Given the description of an element on the screen output the (x, y) to click on. 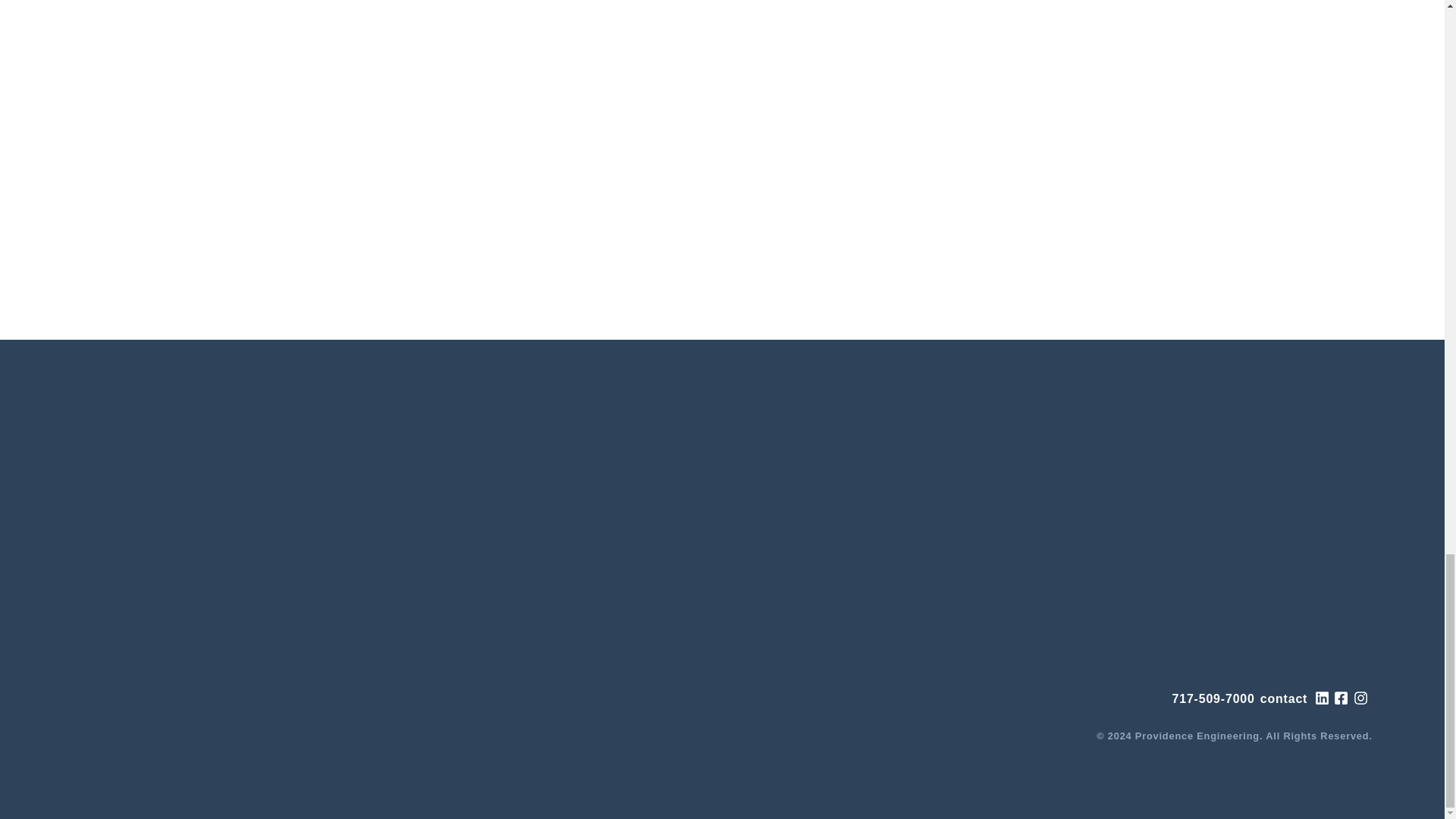
717-509-7000 (1213, 699)
contact (1283, 699)
